Given the description of an element on the screen output the (x, y) to click on. 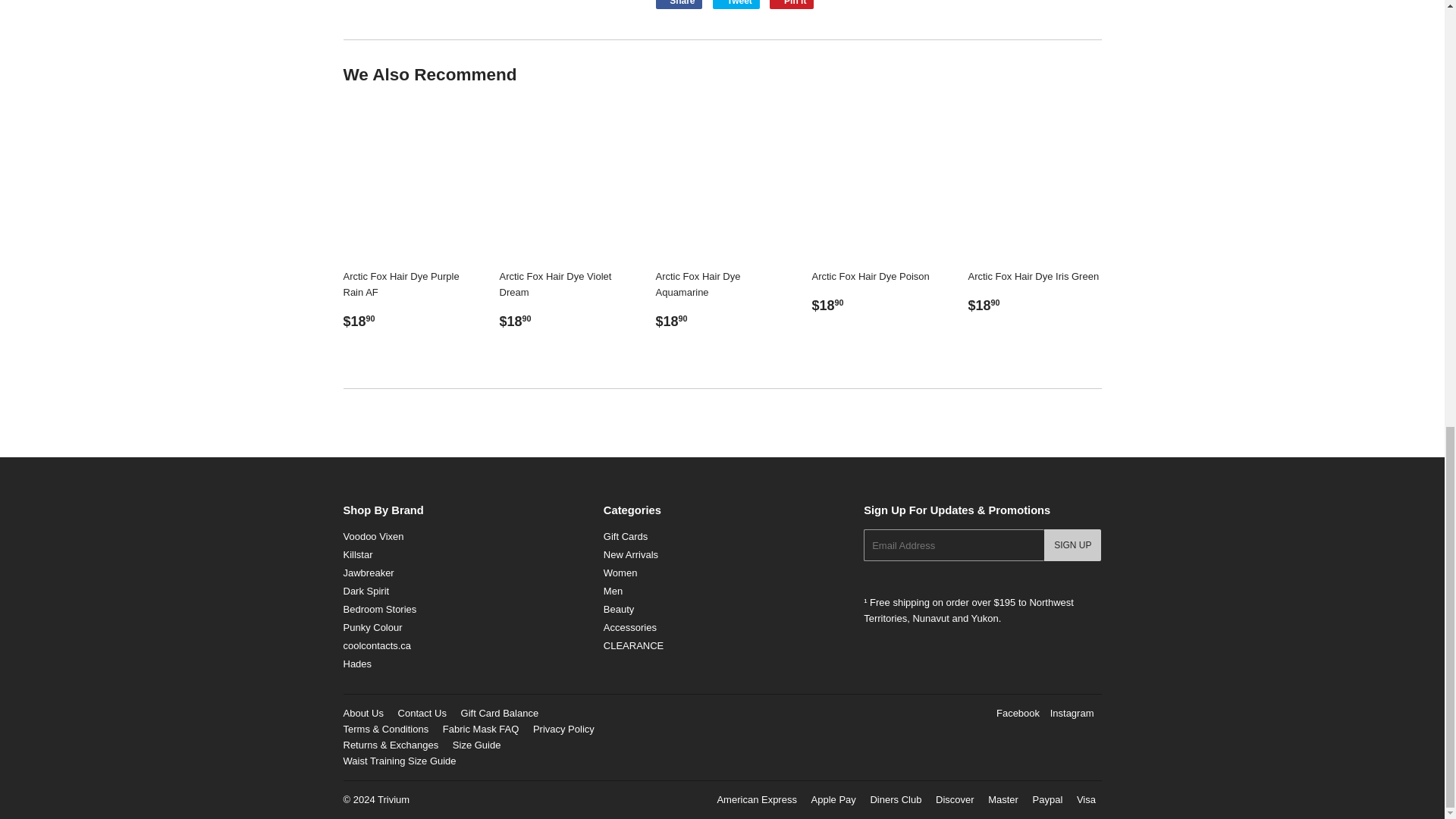
Trivium on Facebook (1017, 713)
Tweet on Twitter (736, 4)
Trivium on Instagram (1071, 713)
Pin on Pinterest (791, 4)
Share on Facebook (678, 4)
